Given the description of an element on the screen output the (x, y) to click on. 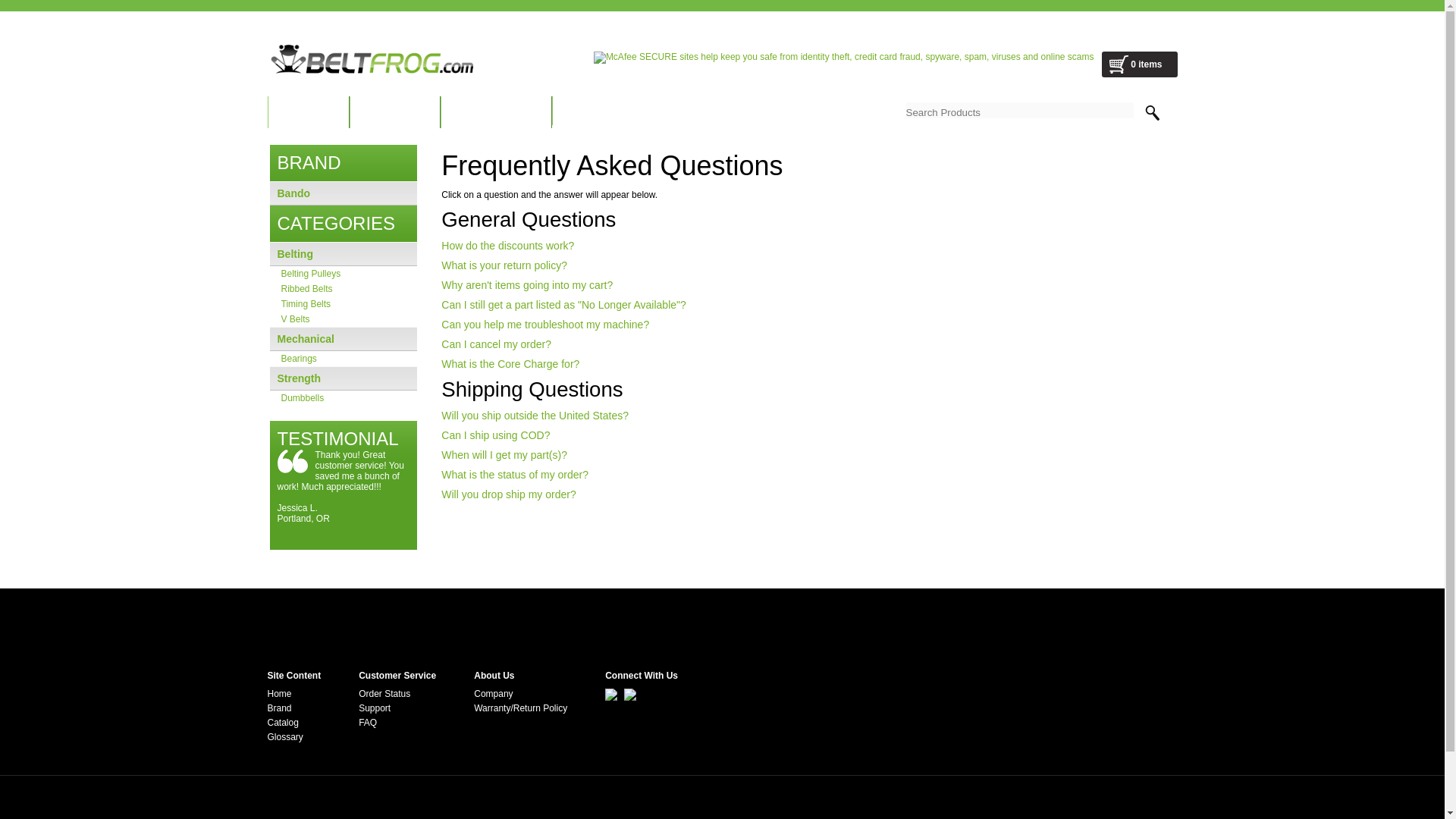
HOME (307, 114)
Strength (299, 378)
Bearings (342, 358)
Timing Belts (342, 304)
Belting Pulleys (342, 273)
Glossary (284, 737)
Ribbed Belts (342, 288)
Home (278, 693)
Belting (295, 254)
BRAND (394, 114)
Brand (278, 707)
Mechanical (306, 338)
V Belts (342, 319)
Search Products (1018, 109)
Bando (342, 192)
